Given the description of an element on the screen output the (x, y) to click on. 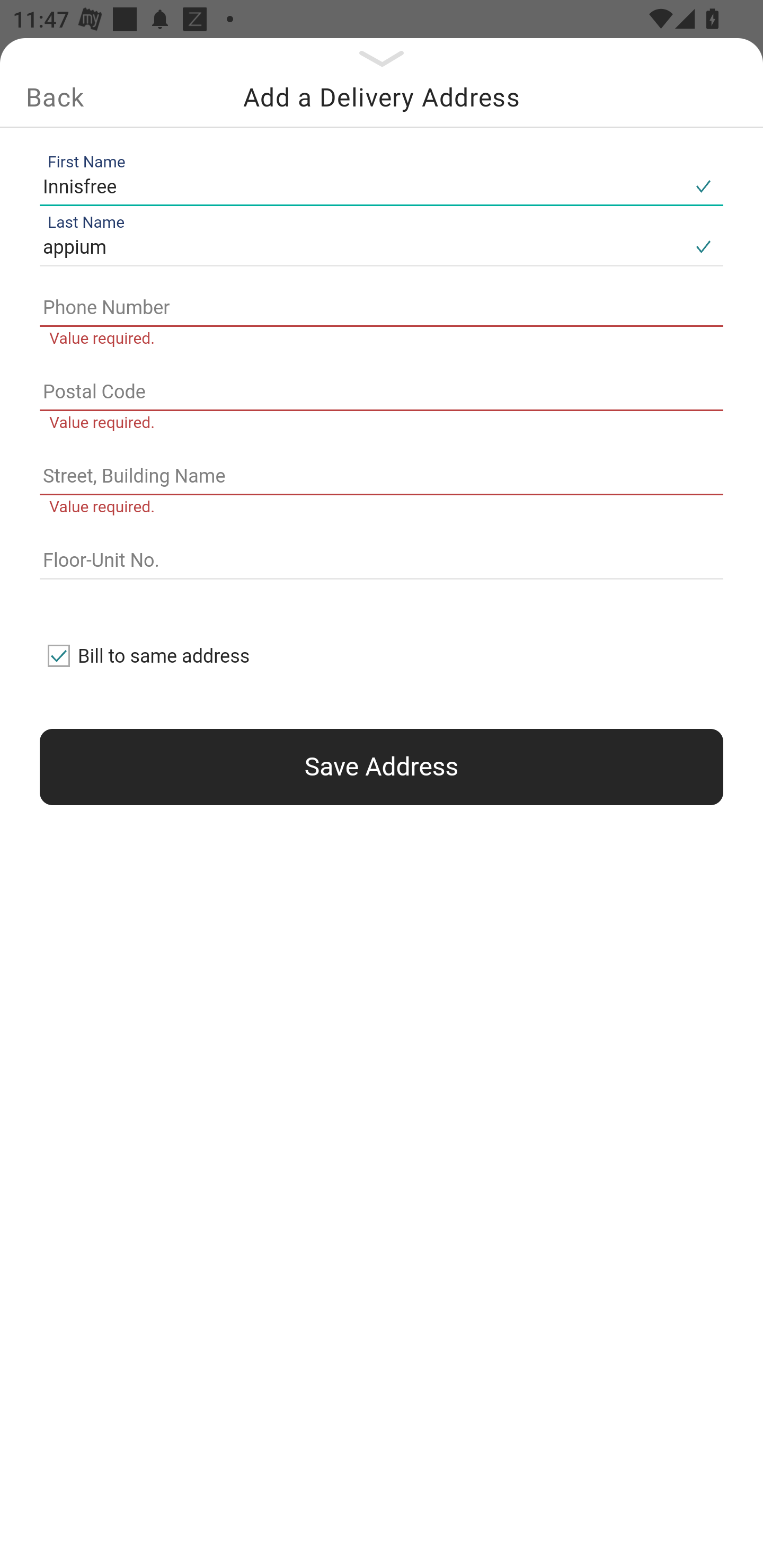
Back (54, 96)
Add a Delivery Address (381, 96)
Innisfree (361, 186)
appium (361, 247)
Save Address (381, 767)
